Given the description of an element on the screen output the (x, y) to click on. 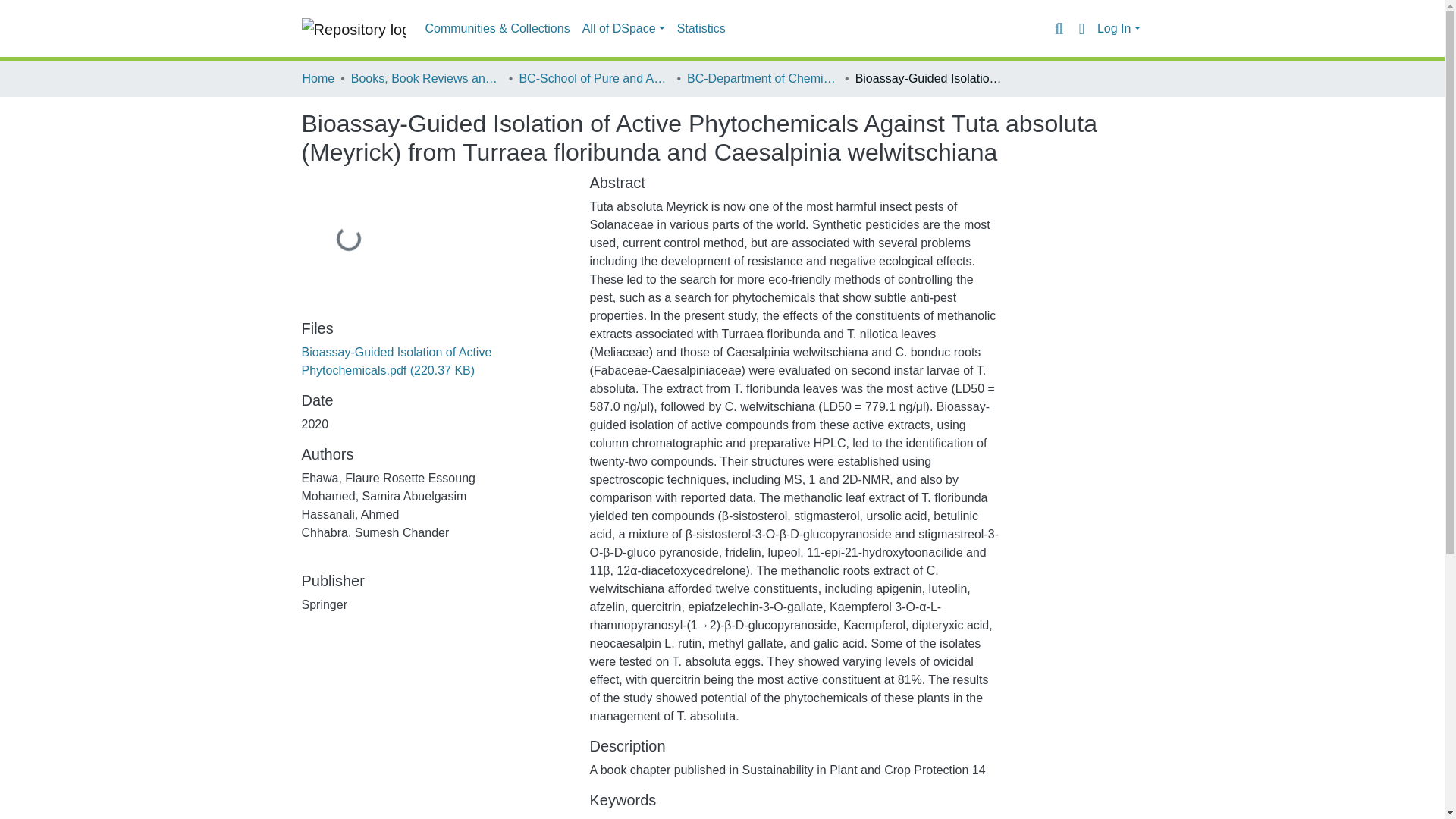
Statistics (701, 28)
Search (1058, 28)
Statistics (701, 28)
Log In (1118, 28)
Language switch (1081, 28)
Home (317, 78)
All of DSpace (623, 28)
BC-School of Pure and Applied Science (593, 78)
BC-Department of Chemistry (762, 78)
